Given the description of an element on the screen output the (x, y) to click on. 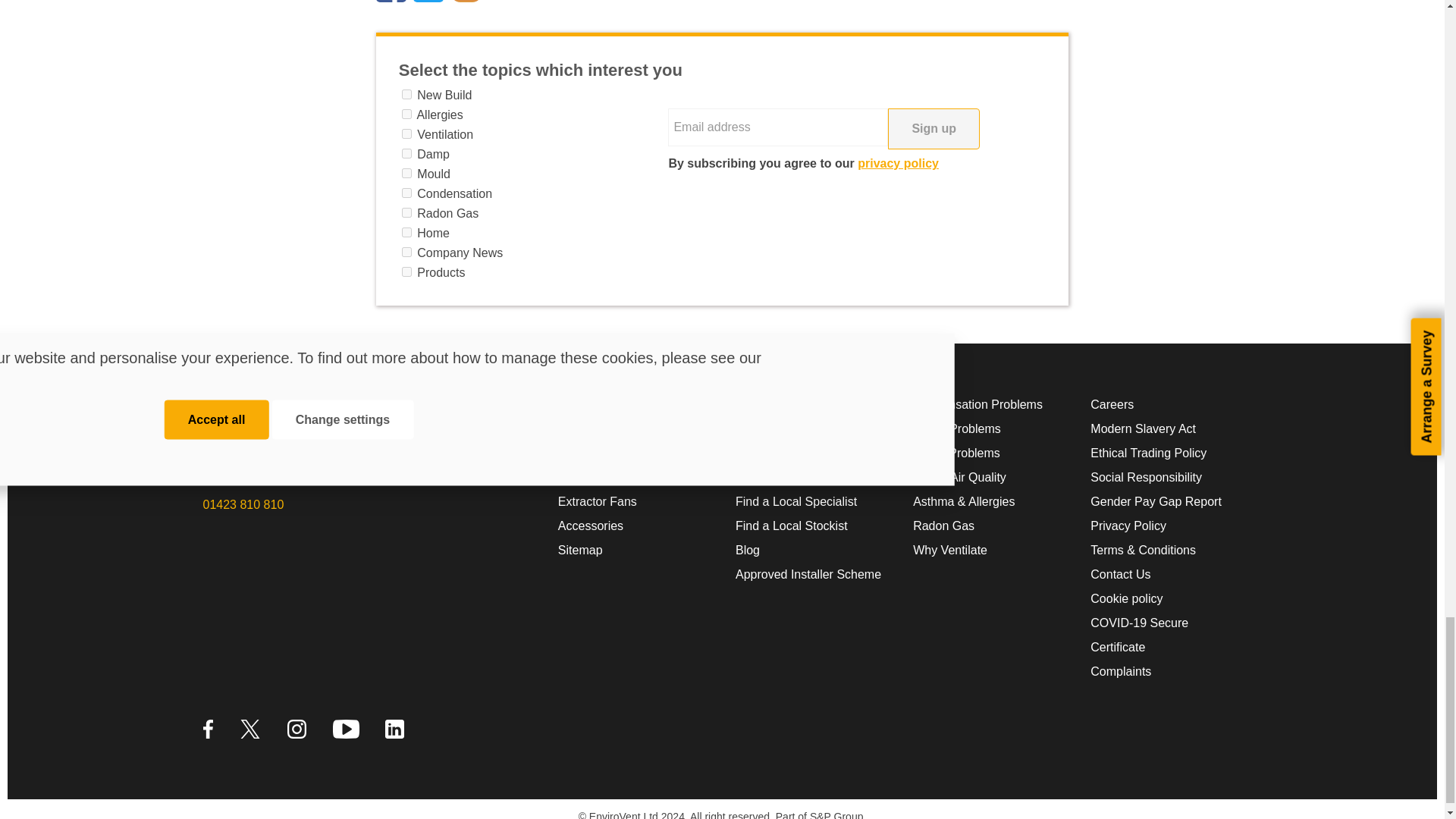
Damp (406, 153)
Products (406, 271)
Company News (406, 252)
Ventilation (406, 133)
Mould (406, 173)
Radon Gas (406, 212)
Condensation (406, 193)
Home (406, 232)
Allergies (406, 113)
New Build (406, 94)
